Given the description of an element on the screen output the (x, y) to click on. 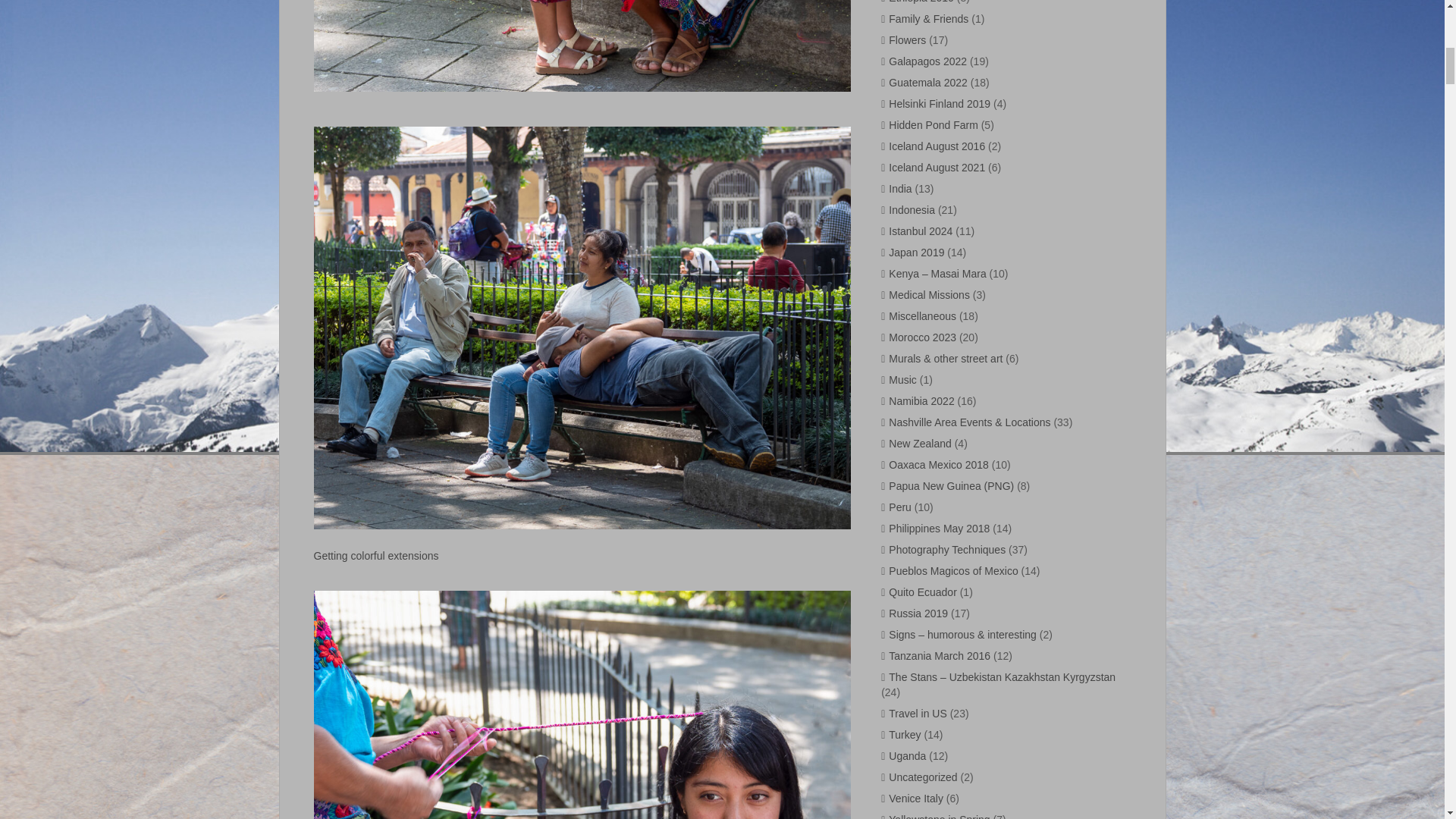
India (899, 188)
Iceland August 2016 (936, 146)
Indonesia (911, 209)
Guatemala 2022 (928, 82)
Medical Missions (928, 295)
Japan 2019 (915, 252)
Flowers (907, 39)
Galapagos 2022 (927, 61)
Istanbul 2024 (920, 231)
Hidden Pond Farm (933, 124)
